Given the description of an element on the screen output the (x, y) to click on. 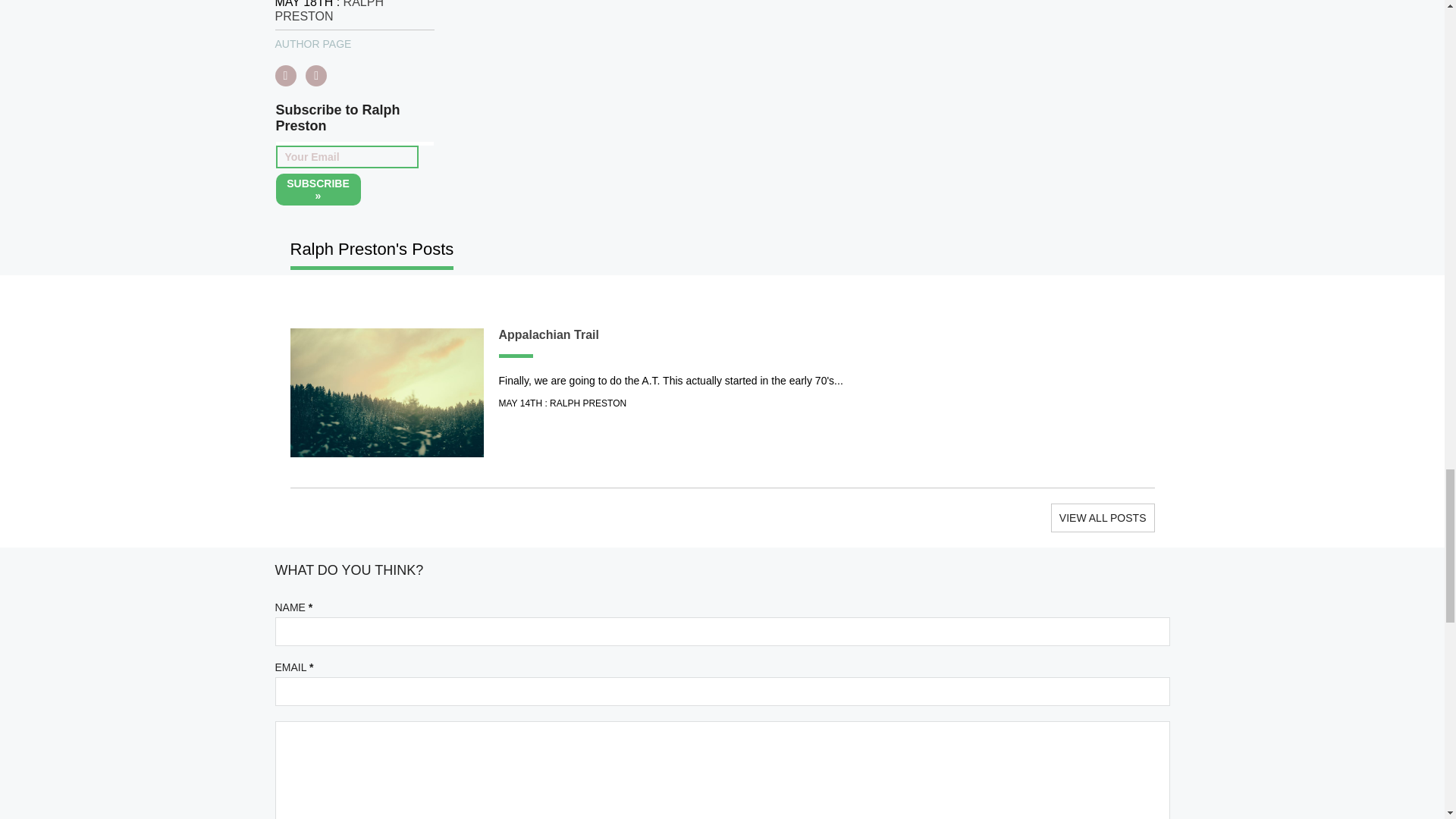
Sign Up (318, 189)
